Given the description of an element on the screen output the (x, y) to click on. 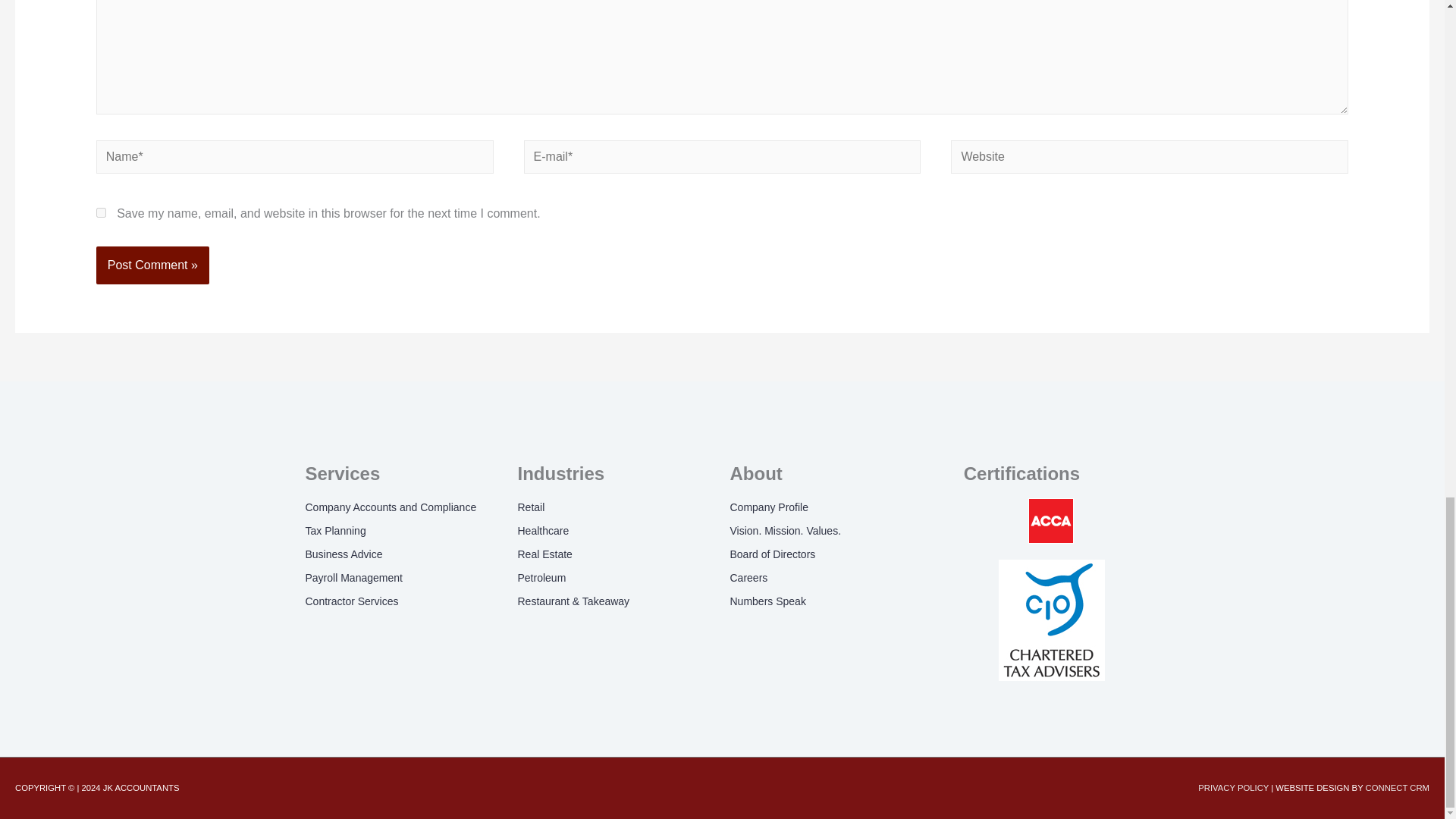
Careers (827, 578)
Healthcare (615, 531)
Retail (615, 507)
Real Estate (615, 555)
yes (101, 212)
PRIVACY POLICY (1234, 787)
Company Accounts and Compliance (403, 507)
Tax Planning (403, 531)
Numbers Speak (827, 601)
Payroll Management (403, 578)
CONNECT CRM (1397, 787)
Vision. Mission. Values. (827, 531)
Company Profile (827, 507)
Petroleum (615, 578)
Contractor Services (403, 601)
